Given the description of an element on the screen output the (x, y) to click on. 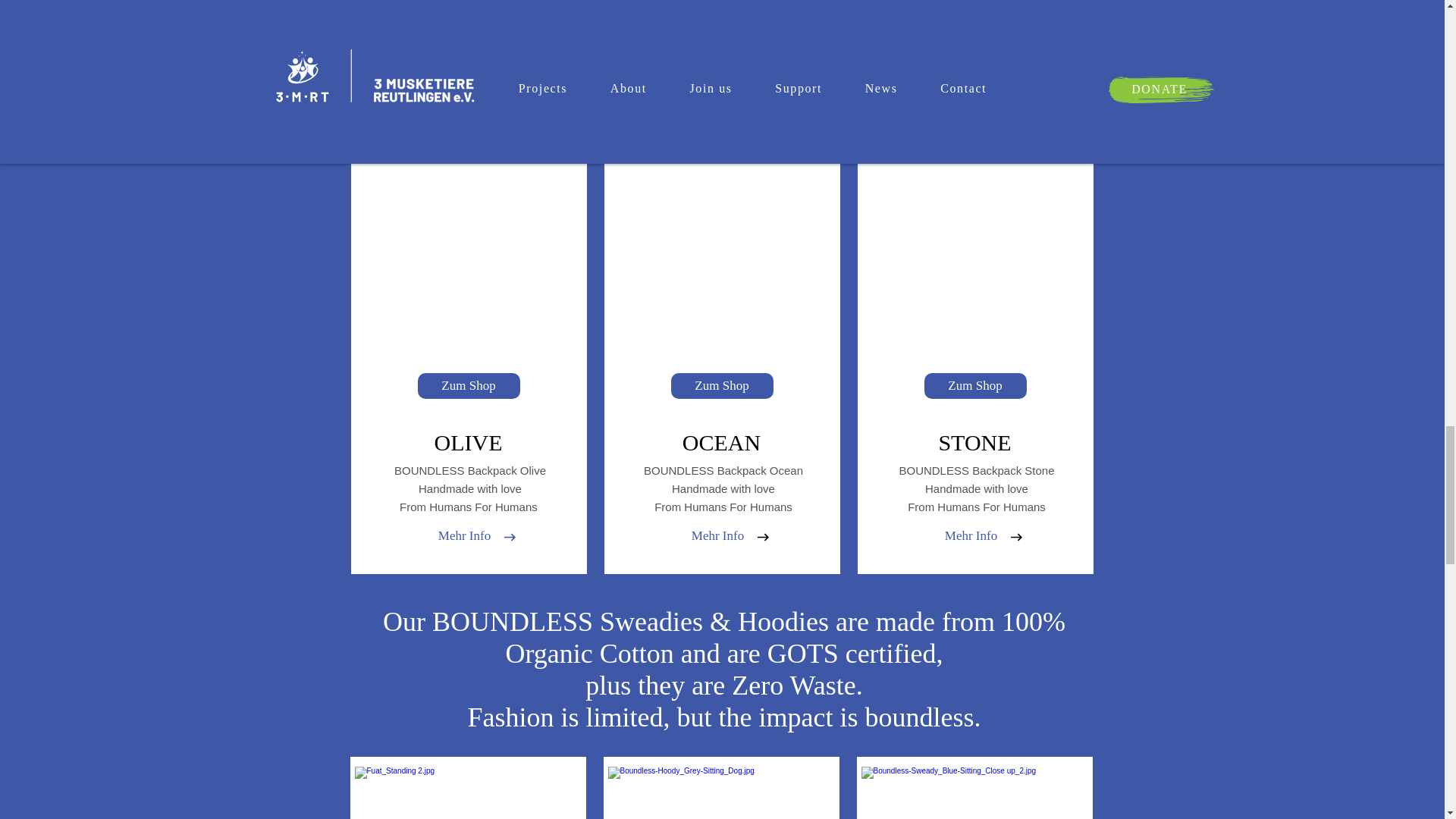
Mehr Info (465, 536)
Zum Shop (467, 385)
